Given the description of an element on the screen output the (x, y) to click on. 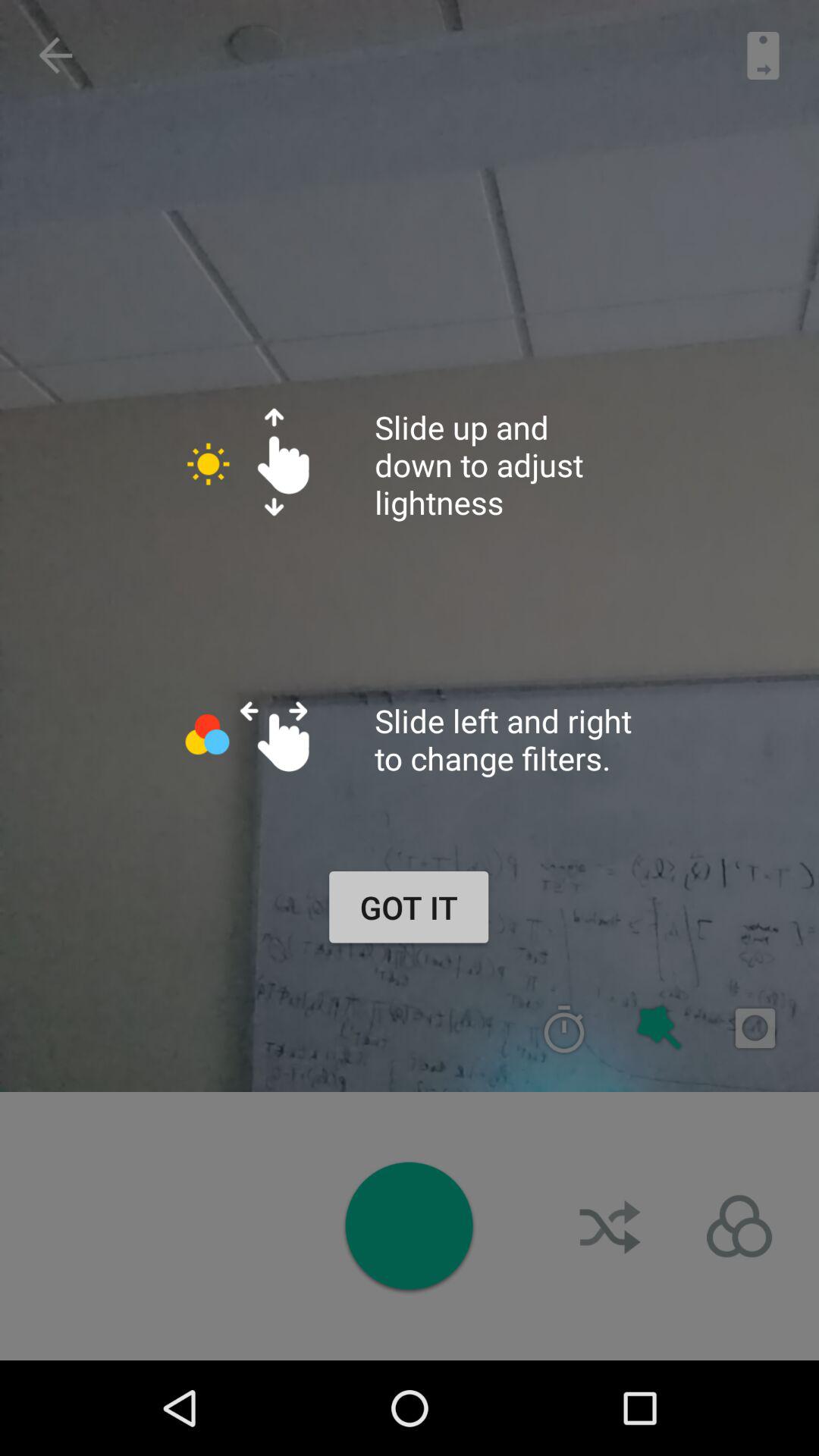
rotate button (739, 1226)
